Given the description of an element on the screen output the (x, y) to click on. 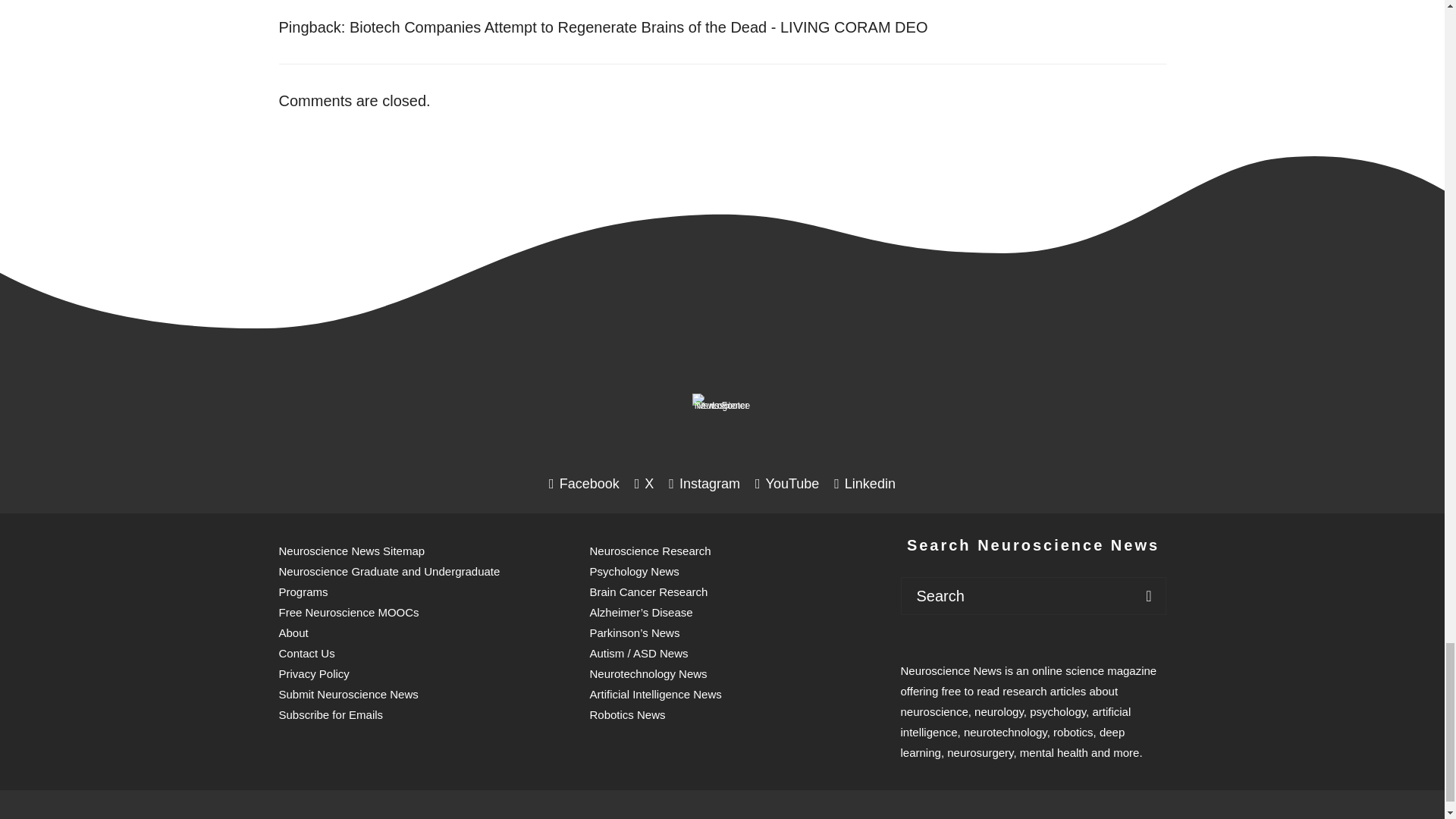
Neurology Research Articles (760, 816)
Psychology Research Articles (855, 816)
Neuroscience Research (657, 816)
